Given the description of an element on the screen output the (x, y) to click on. 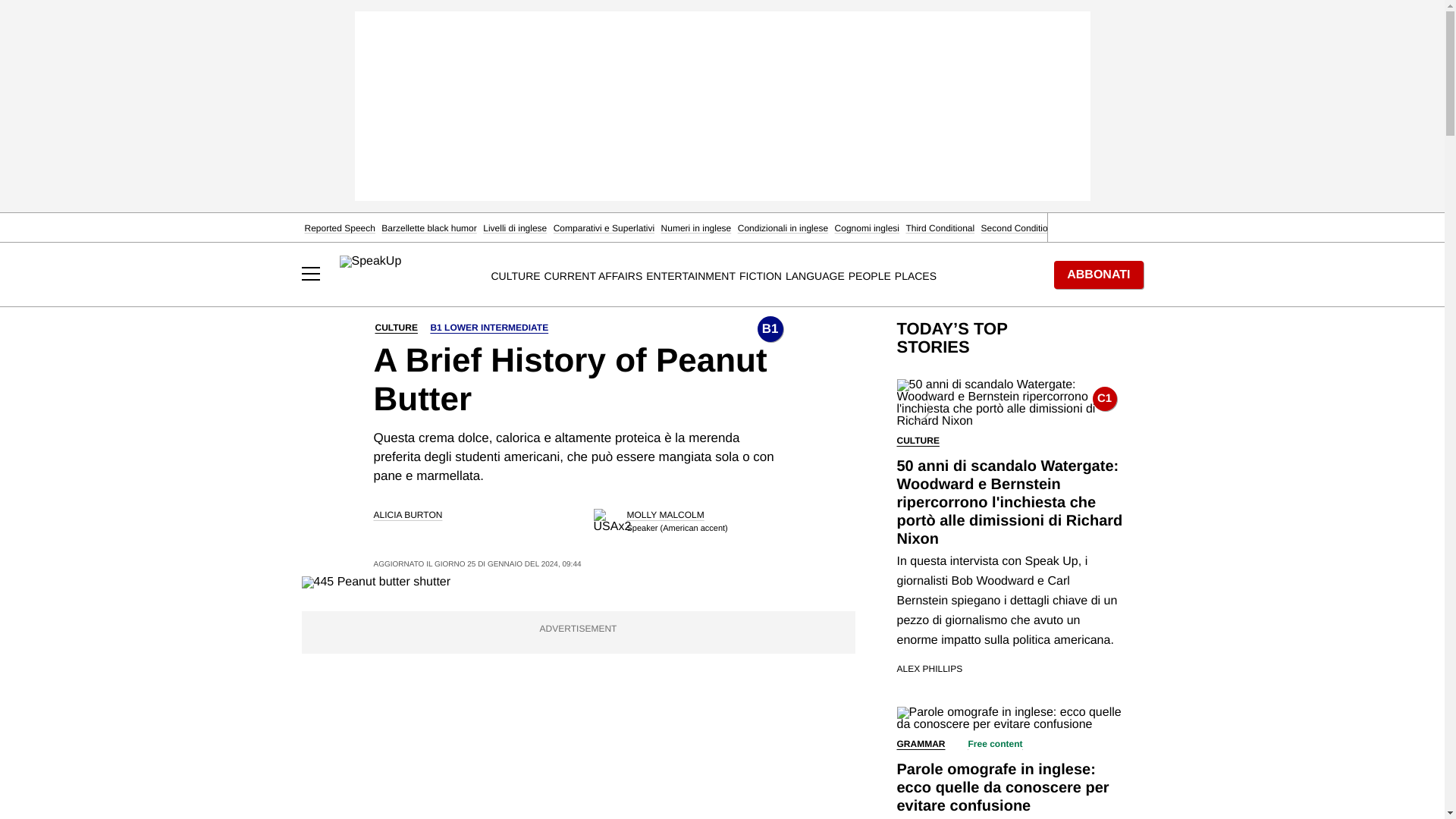
Cognomi inglesi (866, 227)
Livelli di inglese (515, 227)
PEOPLE (869, 275)
Comparativi e Superlativi (603, 227)
CULTURE (516, 275)
Barzellette black humor (428, 227)
ABBONATI (1098, 274)
Reported Speech (339, 227)
CURRENT AFFAIRS (593, 275)
LANGUAGE (815, 275)
